Given the description of an element on the screen output the (x, y) to click on. 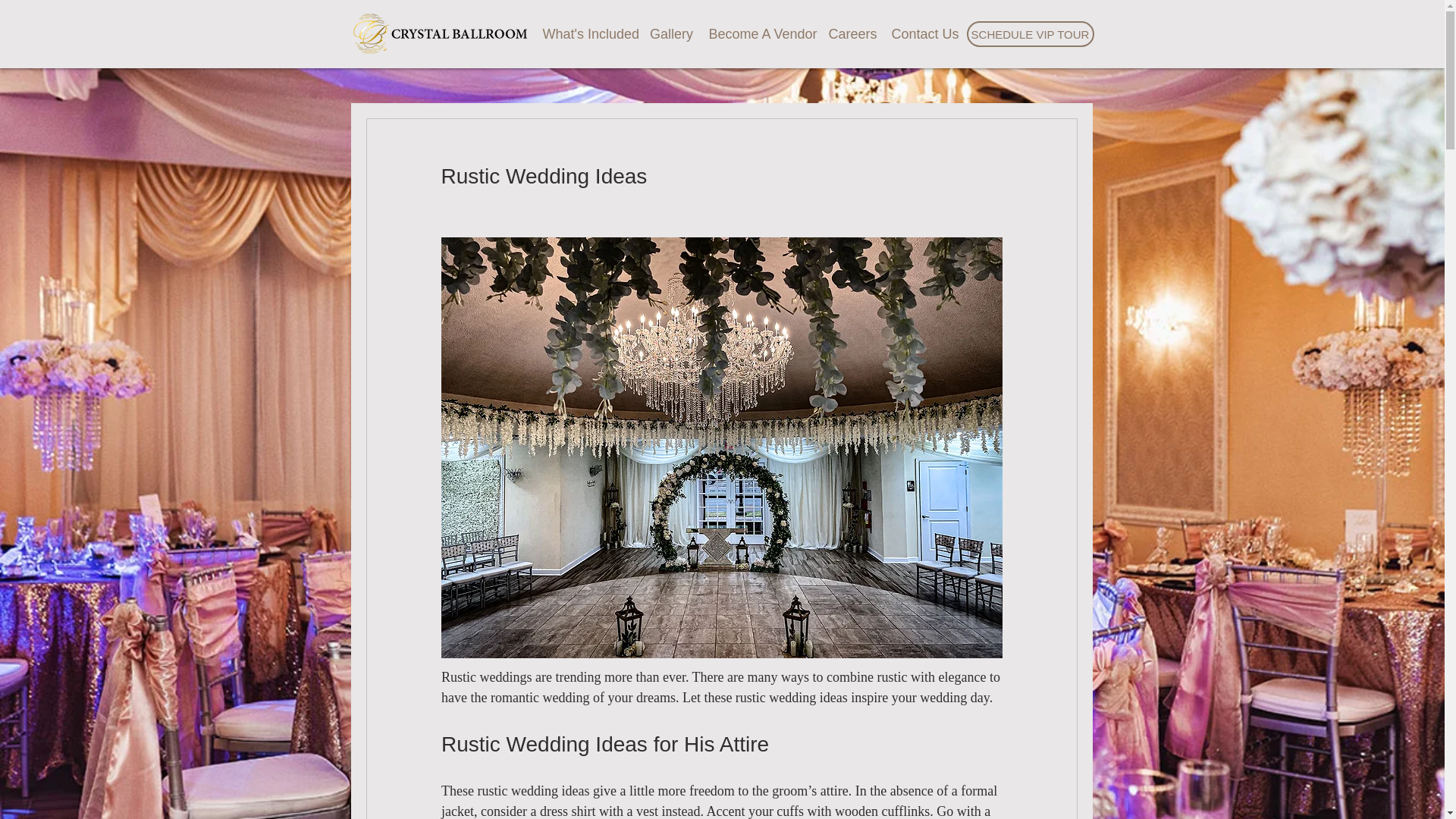
Careers (852, 33)
Gallery (671, 33)
What's Included (588, 33)
SCHEDULE VIP TOUR (1029, 33)
Become A Vendor (760, 33)
Contact Us (924, 33)
